Given the description of an element on the screen output the (x, y) to click on. 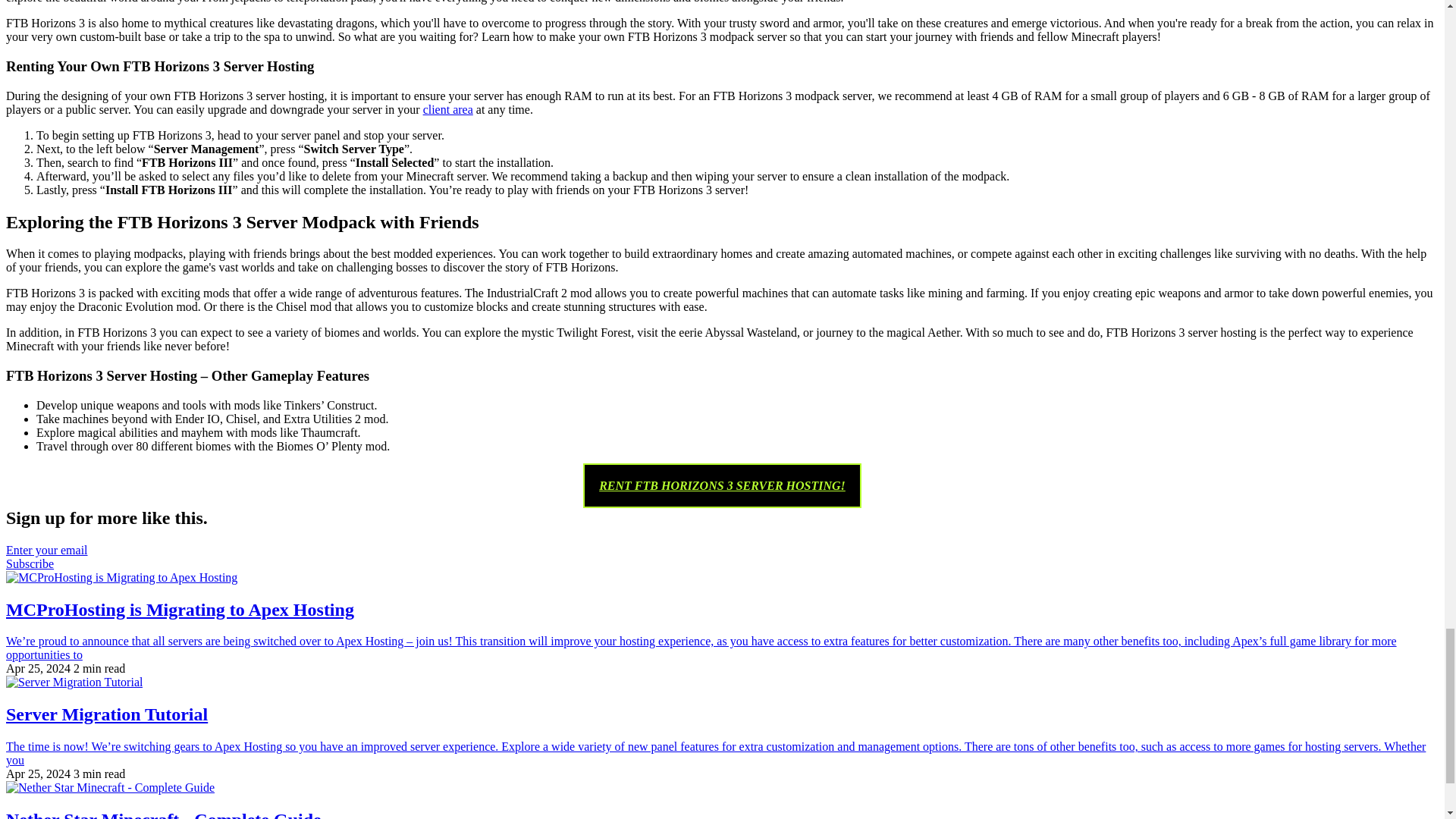
RENT FTB HORIZONS 3 SERVER HOSTING! (721, 485)
client area (448, 109)
